Given the description of an element on the screen output the (x, y) to click on. 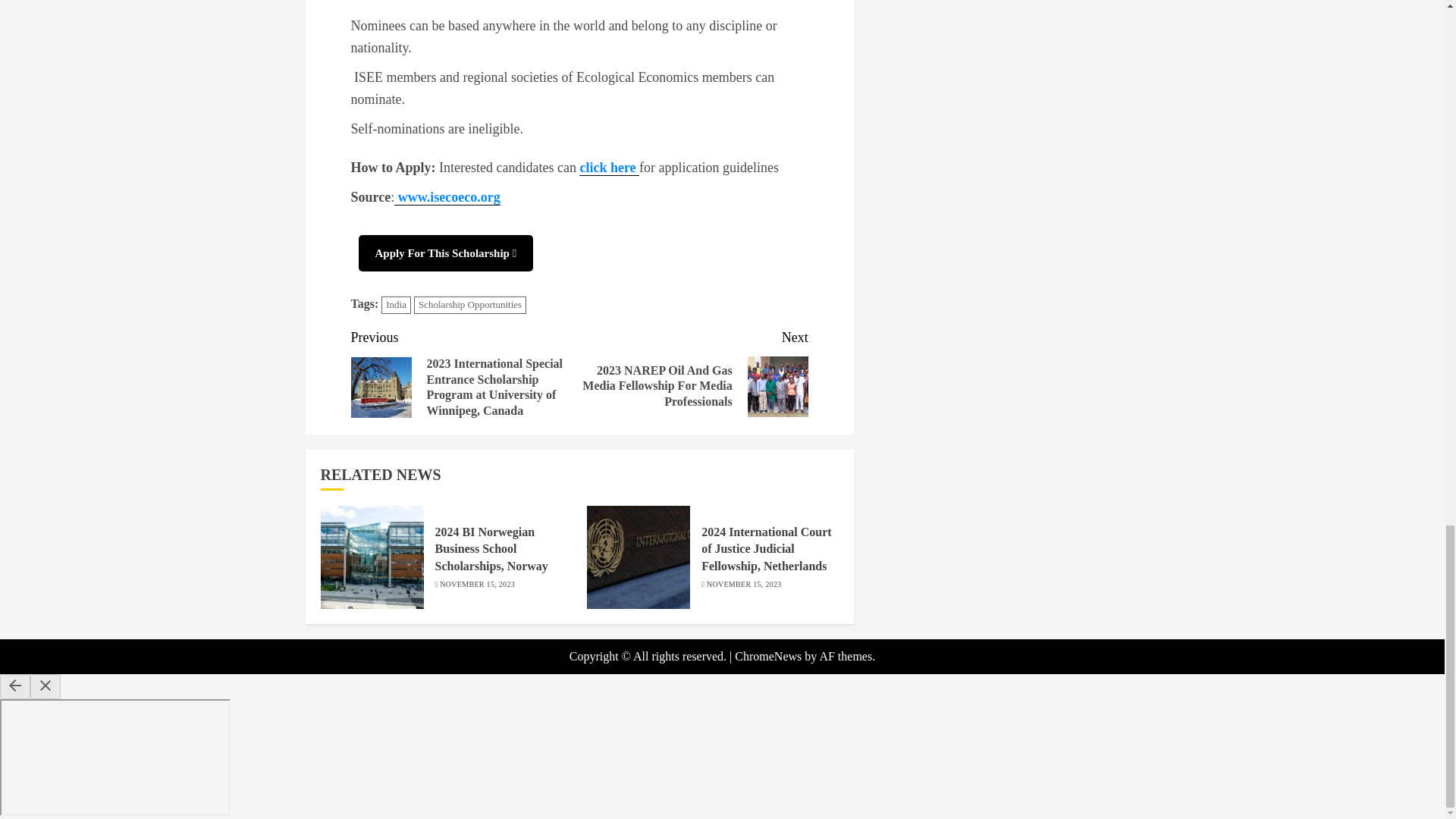
Apply For This Scholarship (445, 253)
 www.isecoeco.org (446, 197)
click here  (609, 167)
